Given the description of an element on the screen output the (x, y) to click on. 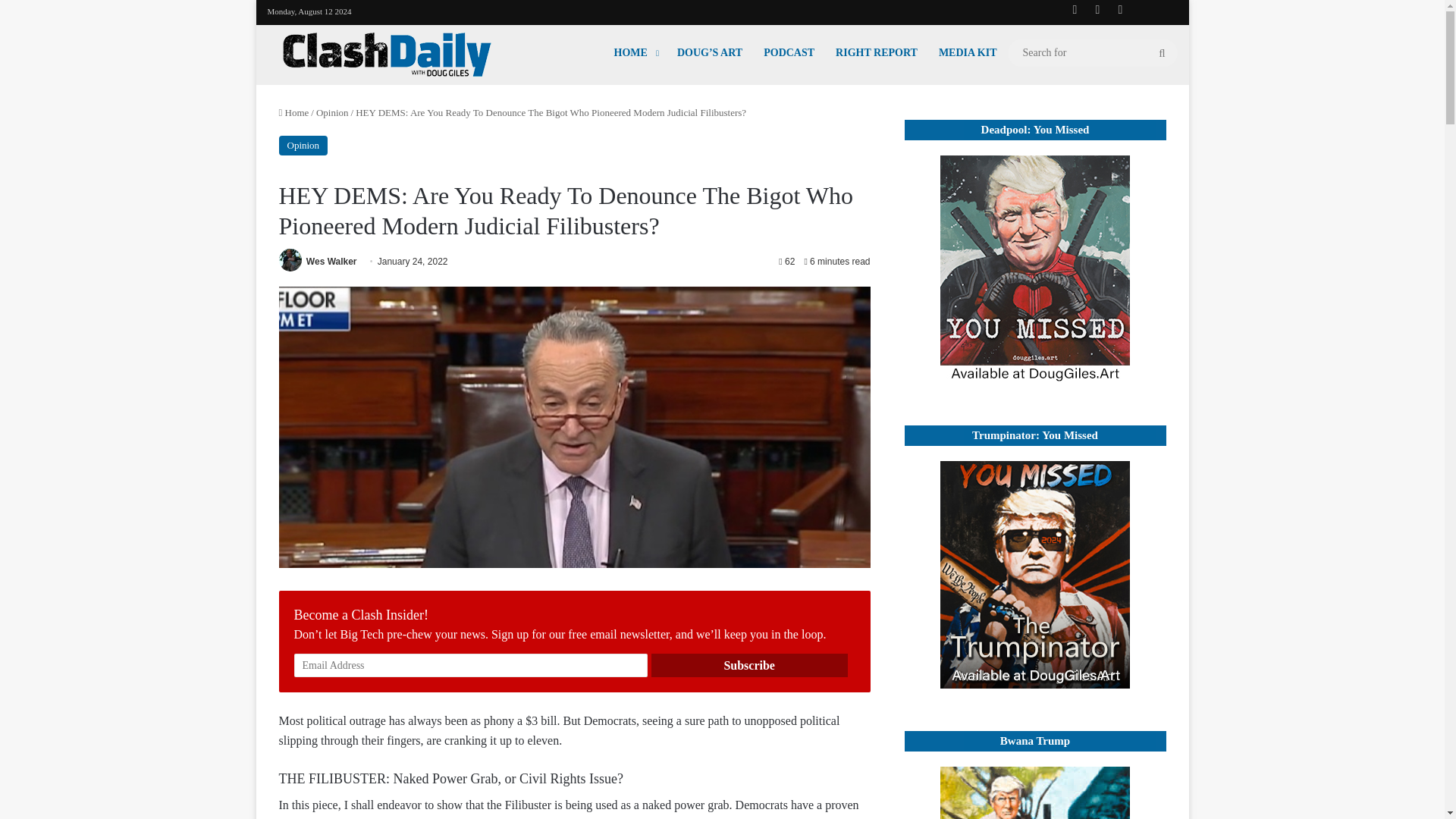
Search for (1091, 52)
Clash Daily (386, 53)
PODCAST (788, 52)
YouTube (1097, 9)
Instagram (1119, 9)
Parler (1165, 9)
RIGHT REPORT (876, 52)
Facebook (1074, 9)
MEDIA KIT (967, 52)
Opinion (304, 145)
